Given the description of an element on the screen output the (x, y) to click on. 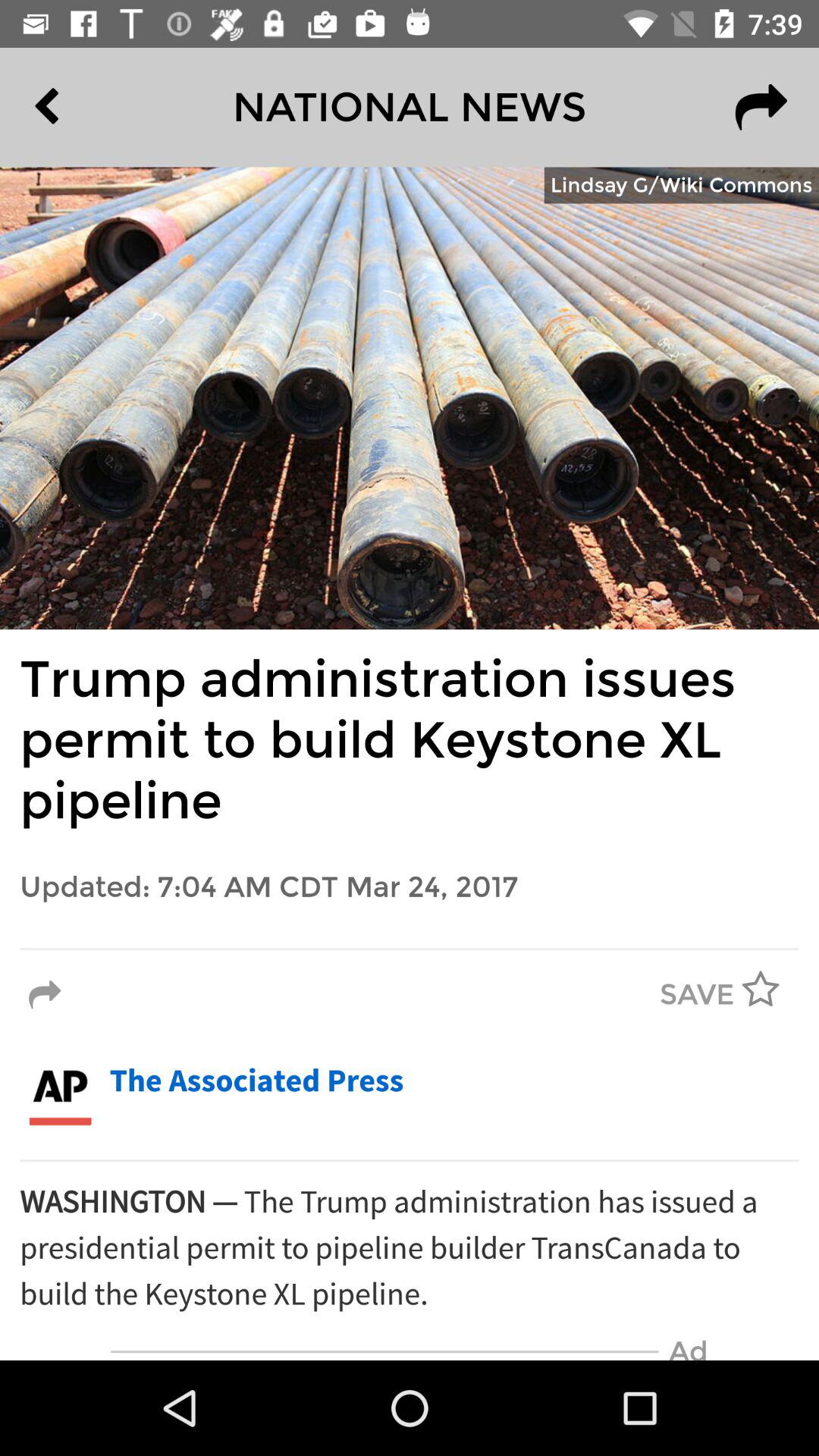
choose the icon next to the ad icon (384, 1351)
